Given the description of an element on the screen output the (x, y) to click on. 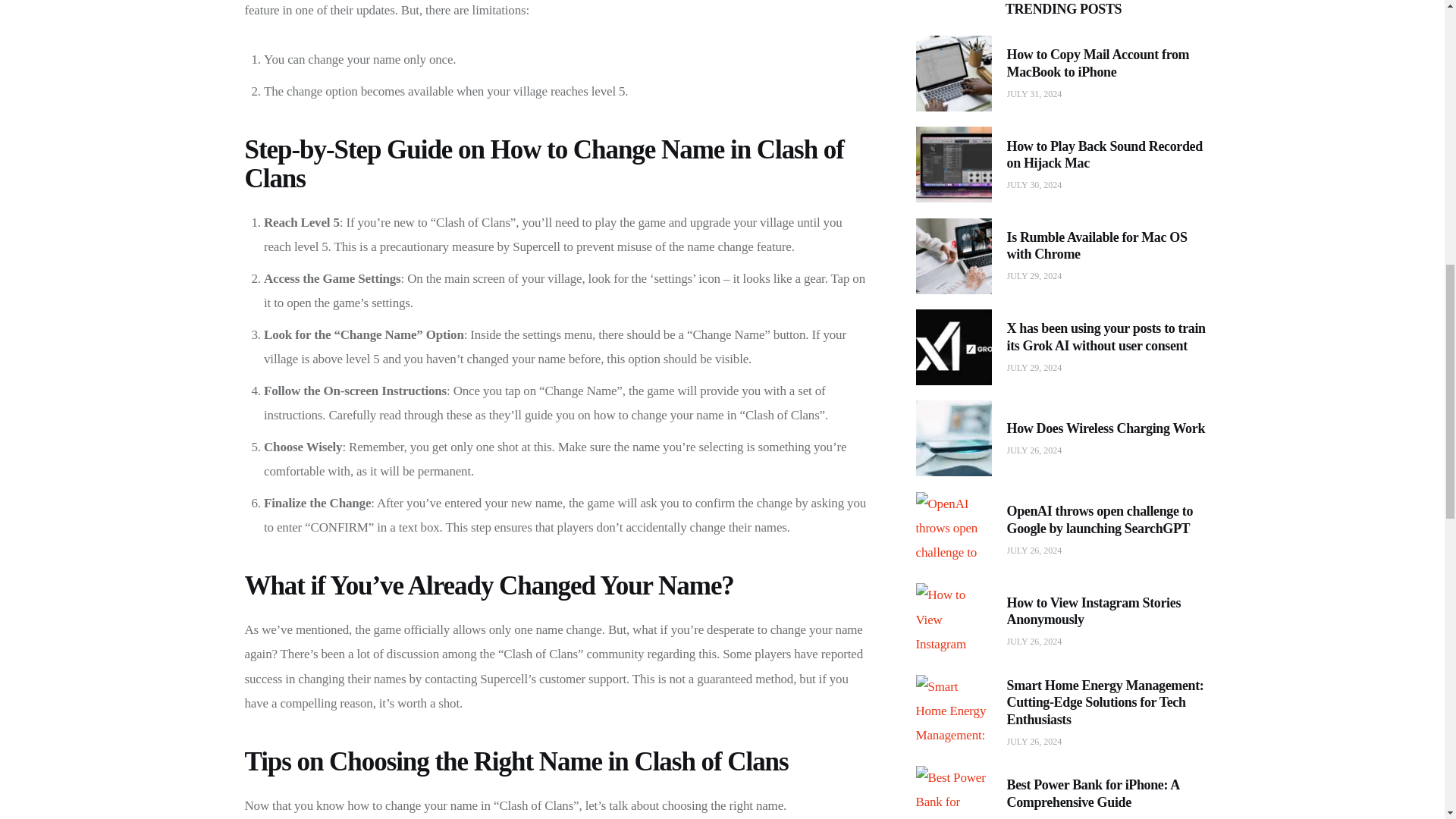
Get the latest kitchen gadgets (979, 594)
